Given the description of an element on the screen output the (x, y) to click on. 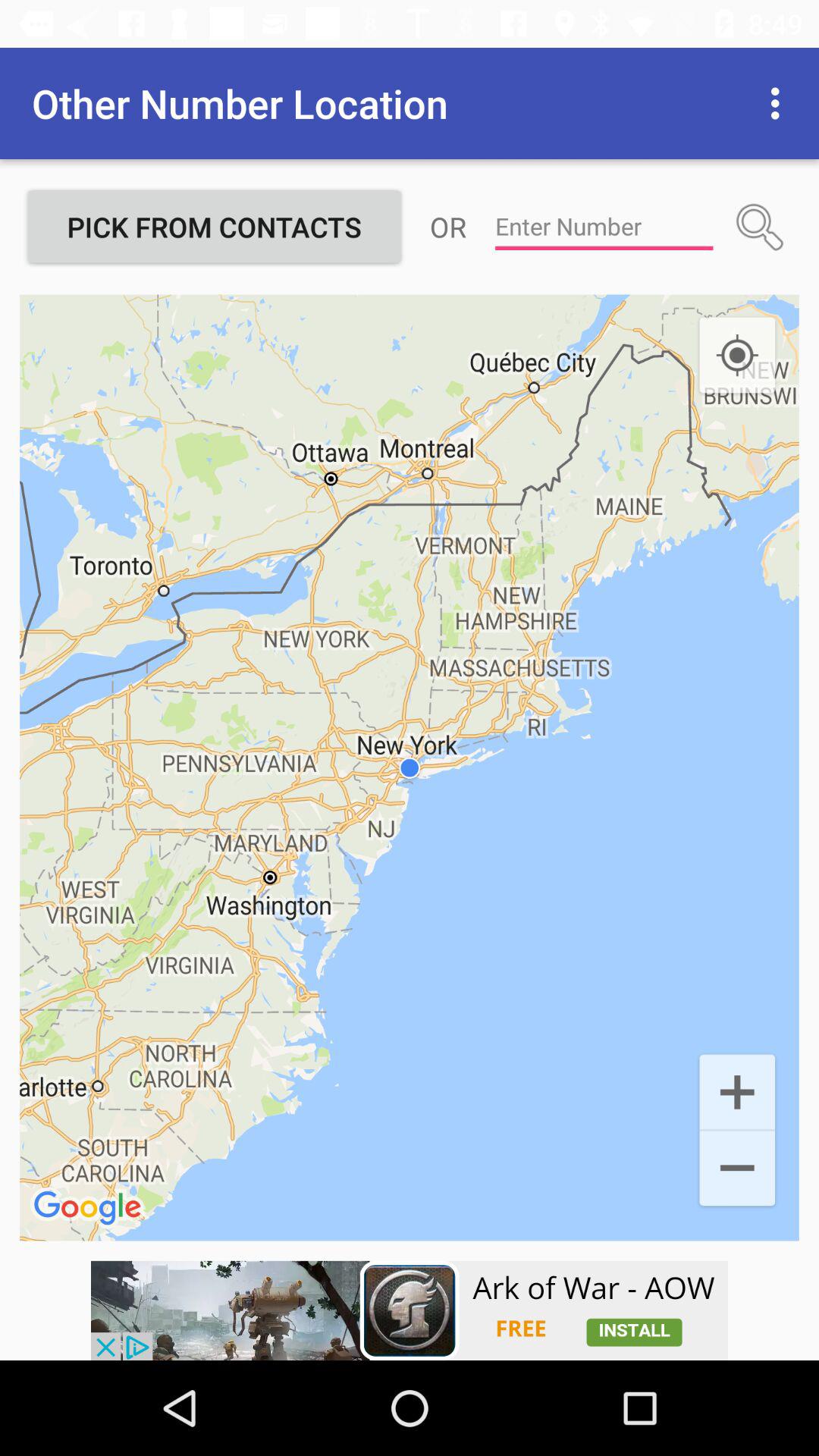
type number (604, 226)
